Given the description of an element on the screen output the (x, y) to click on. 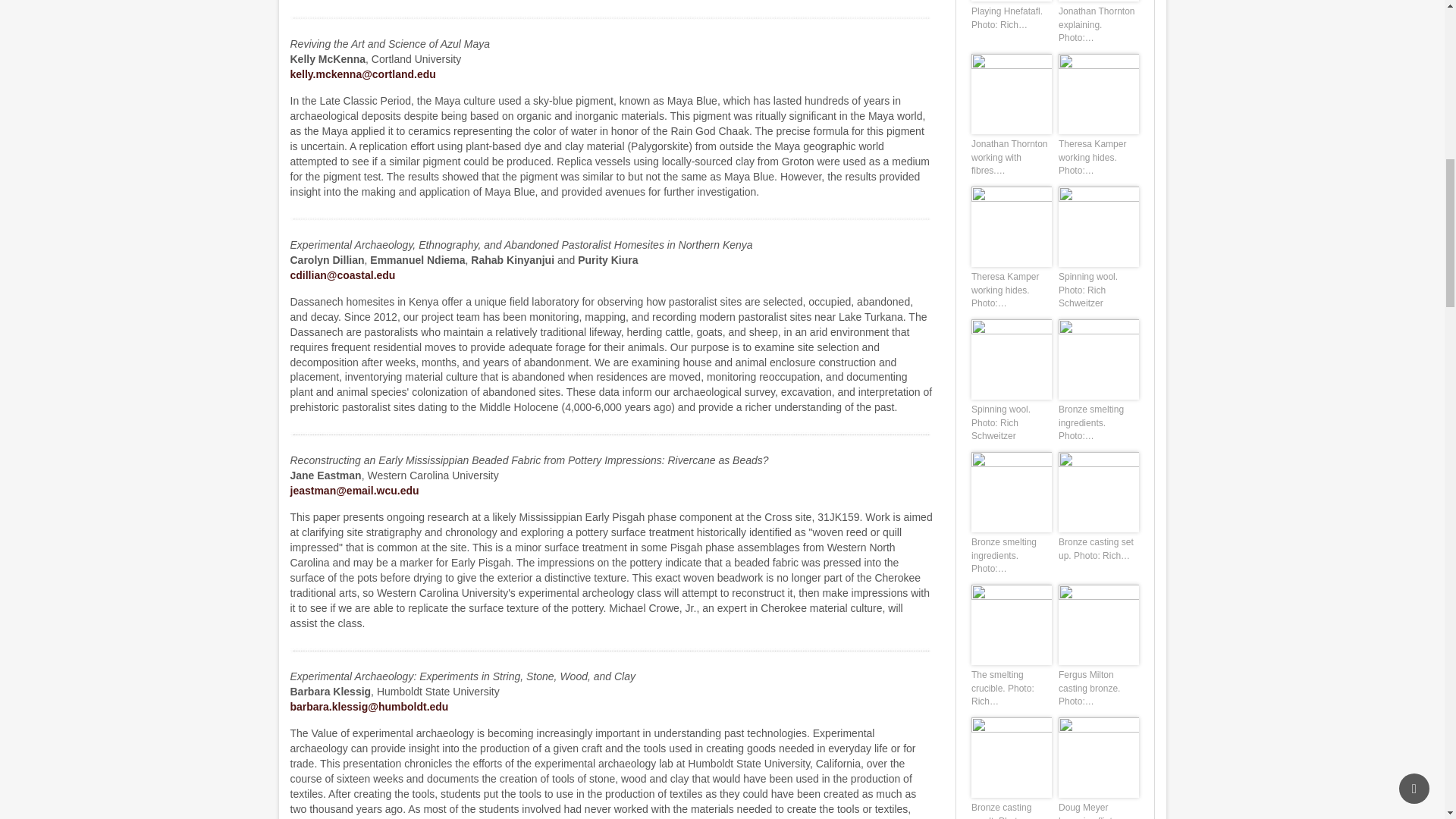
Spinning wool. Photo: Rich Schweitzer (1011, 358)
Bronze smelting ingredients. Photo: Rich Schweitzer (1098, 359)
Bronze smelting ingredients. Photo: Rich Schweitzer (1098, 358)
Jonathan Thornton explaining. Photo: Rich Schweitzer (1098, 0)
Playing Hnefatafl. Photo: Rich Schweitzer (1011, 0)
Spinning wool. Photo: Rich Schweitzer (1011, 359)
Theresa Kamper working hides. Photo: Rich Schweitzer (1098, 92)
Bronze smelting ingredients. Photo: Rich Schweitzer (1011, 492)
Bronze smelting ingredients. Photo: Rich Schweitzer (1011, 491)
